Given the description of an element on the screen output the (x, y) to click on. 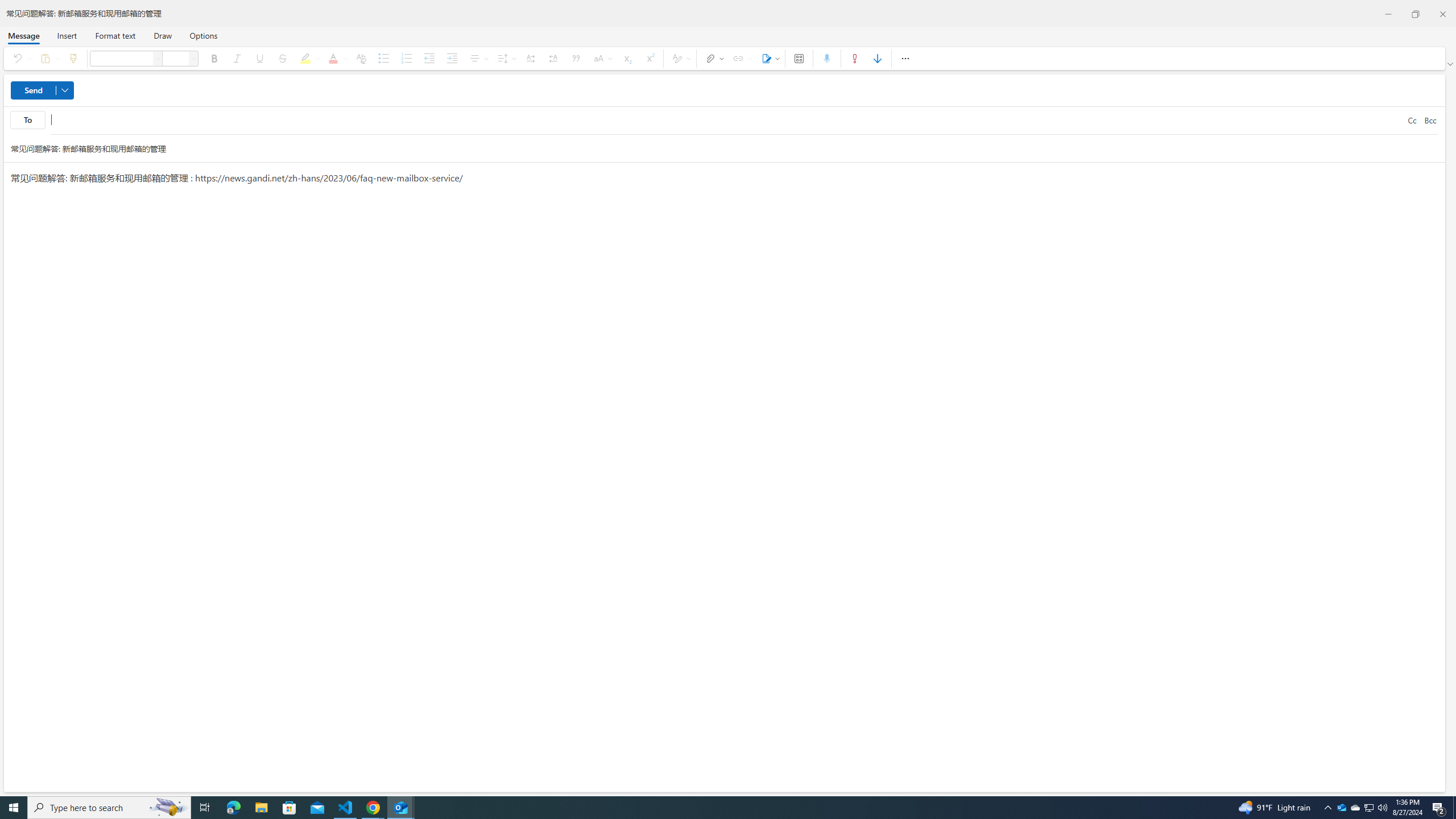
High importance (854, 58)
Ribbon display options (1450, 63)
Apps (798, 58)
Attach file (712, 58)
Font size (176, 58)
